Given the description of an element on the screen output the (x, y) to click on. 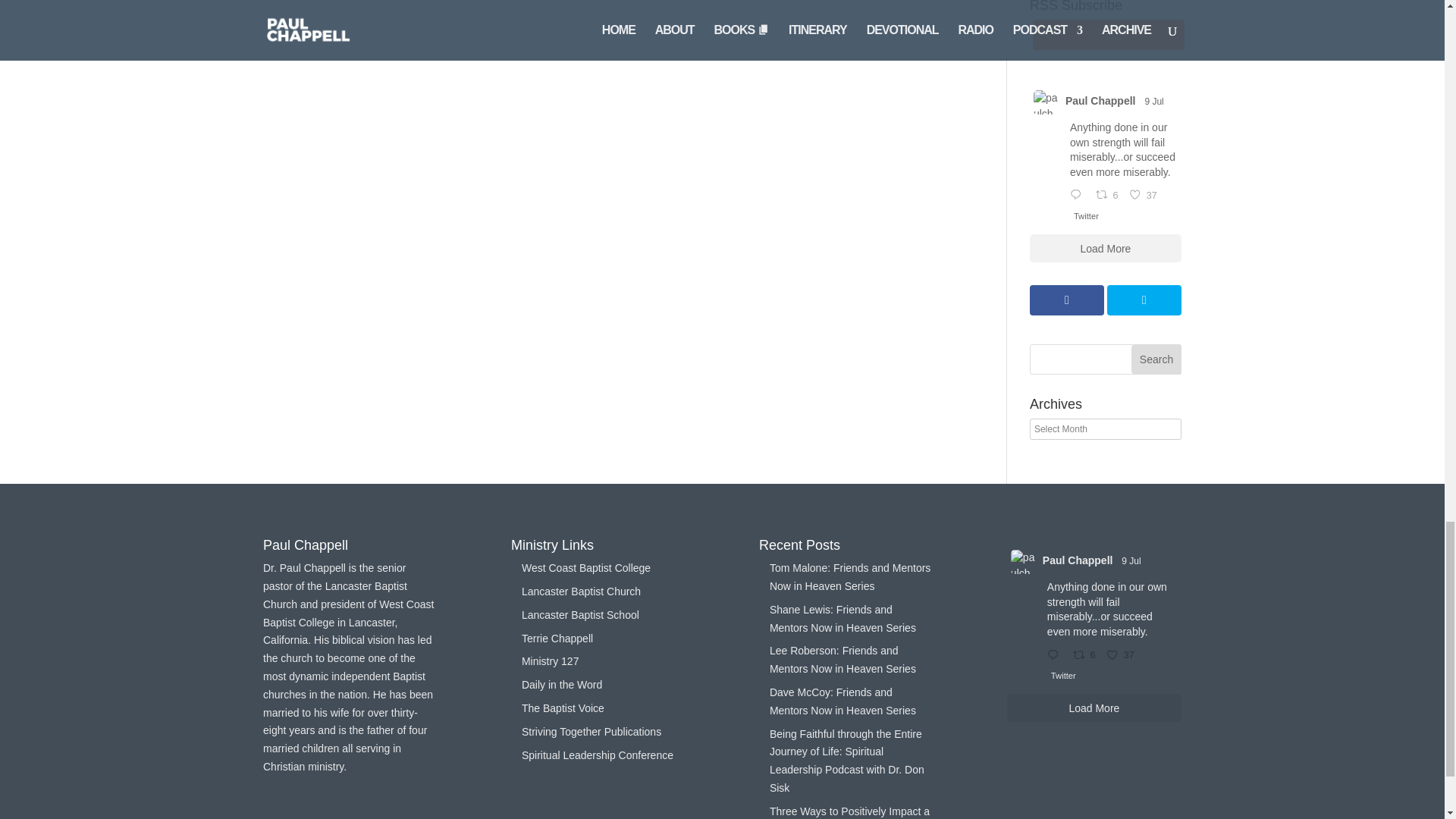
Search (1155, 358)
Paul Chappell (1100, 100)
